Given the description of an element on the screen output the (x, y) to click on. 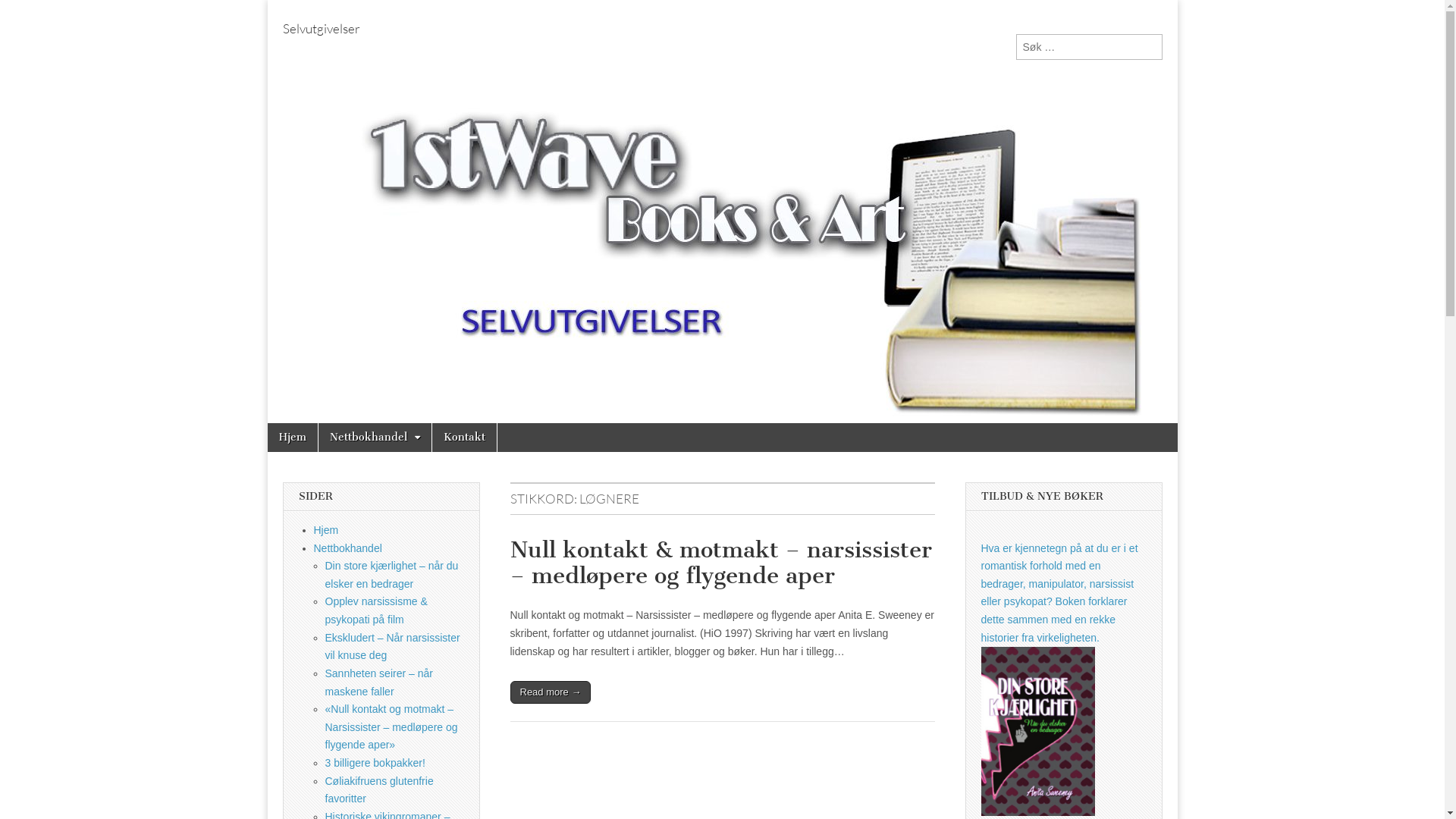
Kvadrat banner Element type: hover (1038, 730)
Nettbokhandel Element type: text (374, 437)
Kontakt Element type: text (464, 437)
3 billigere bokpakker! Element type: text (374, 762)
Hjem Element type: text (291, 437)
Hjem Element type: text (325, 530)
Skip to content Element type: text (266, 422)
Nettbokhandel Element type: text (347, 548)
